Given the description of an element on the screen output the (x, y) to click on. 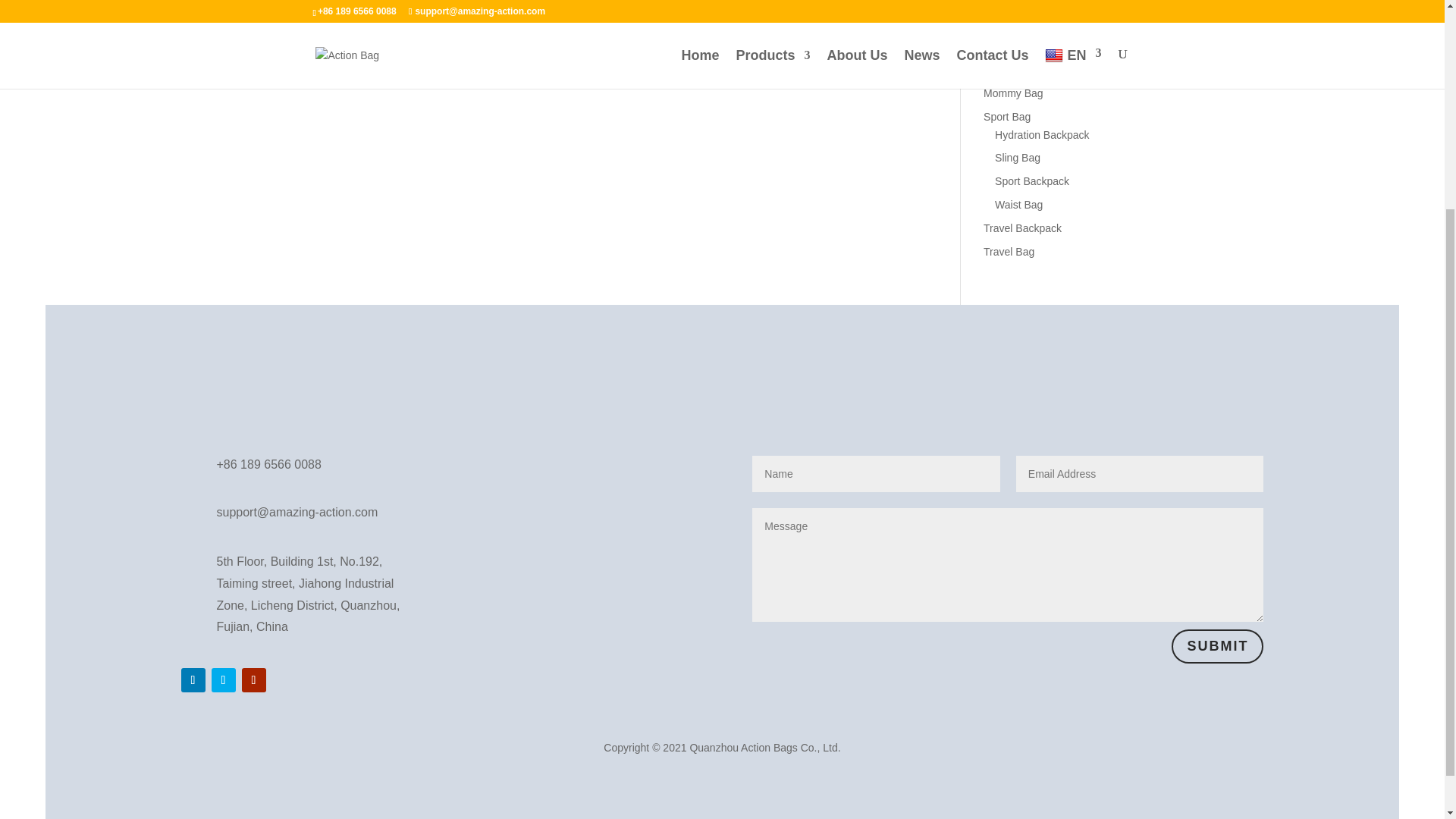
Follow on Twitter (222, 680)
Follow on Youtube (252, 680)
Follow on LinkedIn (192, 680)
